Given the description of an element on the screen output the (x, y) to click on. 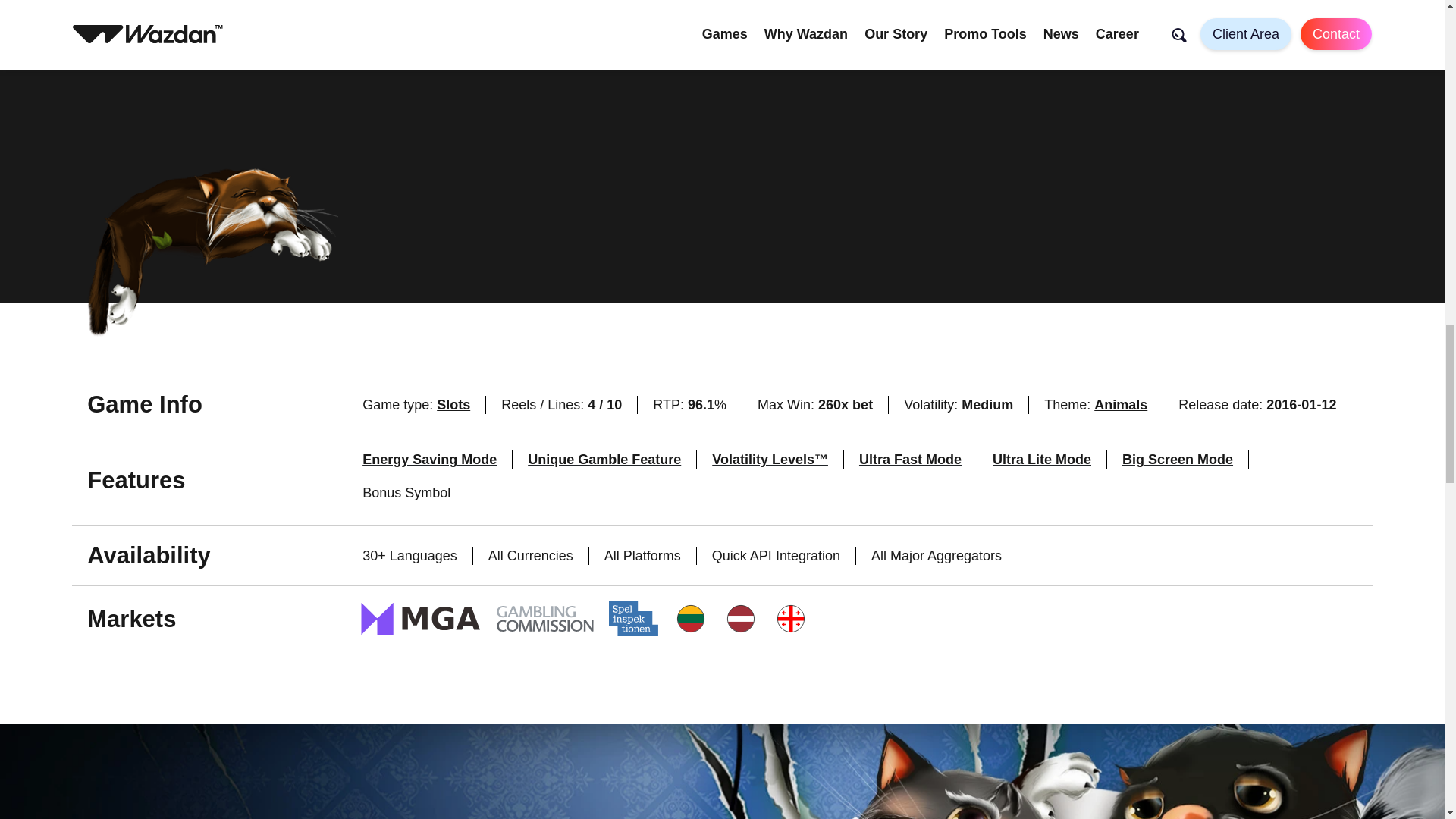
United Kingdom (545, 618)
Slots (453, 404)
Lithuania (689, 618)
Georgia (790, 618)
Sweden (633, 618)
Malta (420, 618)
Latvia (740, 618)
Animals (1120, 404)
